Given the description of an element on the screen output the (x, y) to click on. 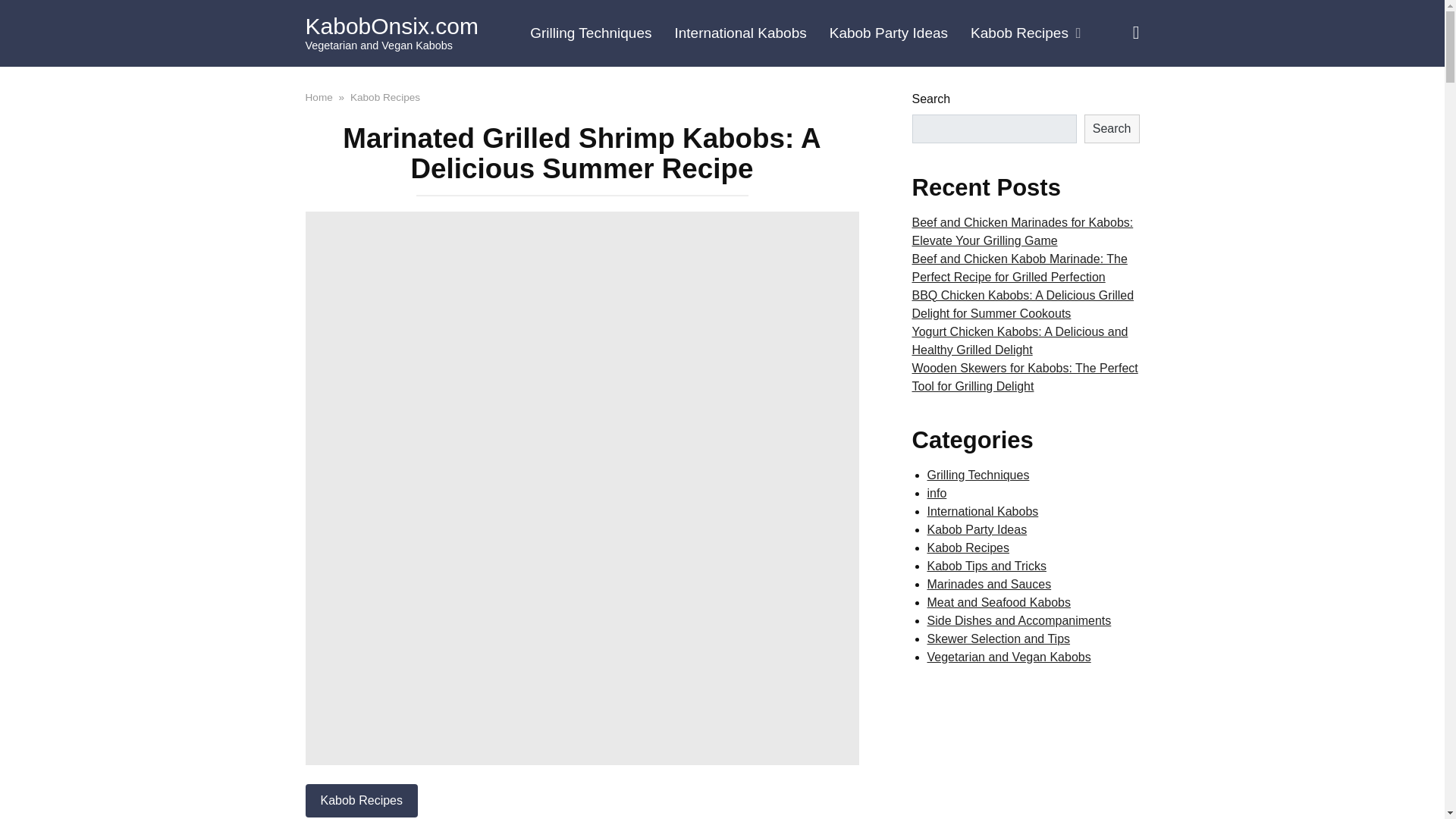
Kabob Party Ideas (888, 33)
KabobOnsix.com (390, 25)
International Kabobs (739, 33)
Kabob Recipes (1025, 33)
Home (317, 96)
Grilling Techniques (590, 33)
Kabob Recipes (360, 800)
Kabob Recipes (385, 96)
